Given the description of an element on the screen output the (x, y) to click on. 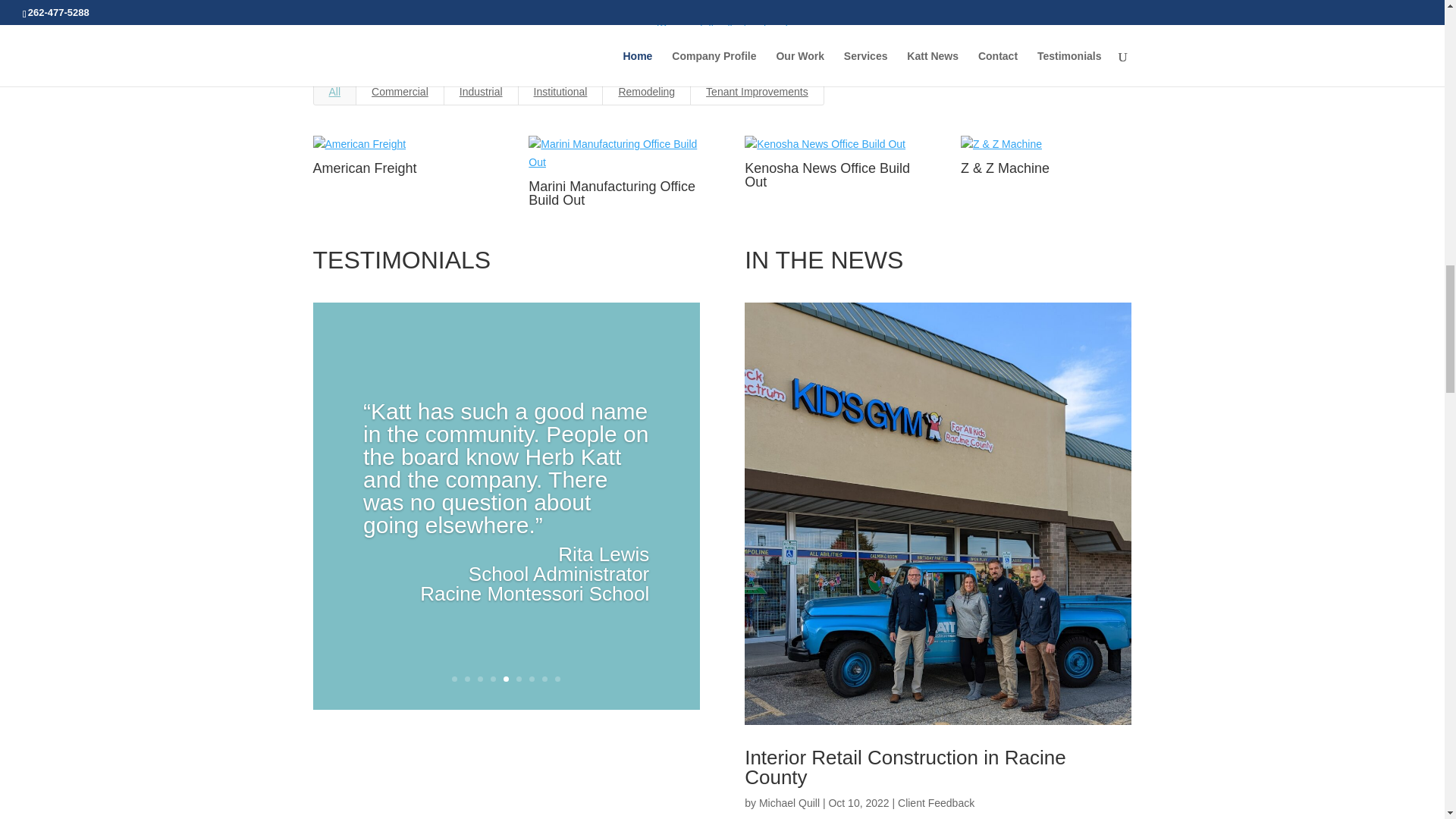
Industrial (481, 91)
Remodeling (646, 91)
Commercial (399, 91)
Marini Manufacturing Office Build Out (611, 193)
Tenant Improvements (757, 91)
American Freight (364, 168)
Kenosha News Office Build Out (827, 174)
Institutional (561, 91)
Posts by Michael Quill (788, 802)
All (334, 91)
